Given the description of an element on the screen output the (x, y) to click on. 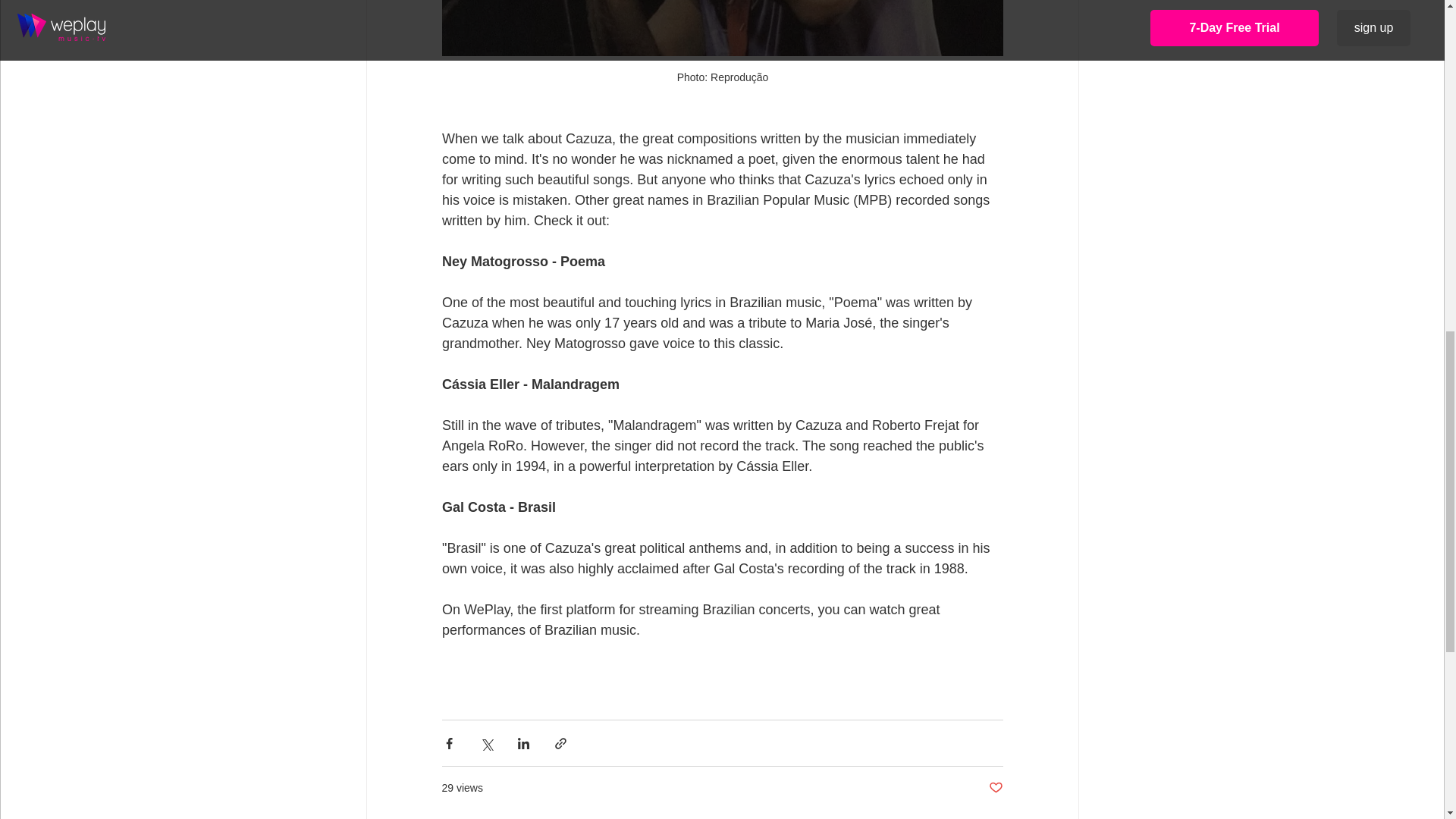
Post not marked as liked (995, 788)
